Given the description of an element on the screen output the (x, y) to click on. 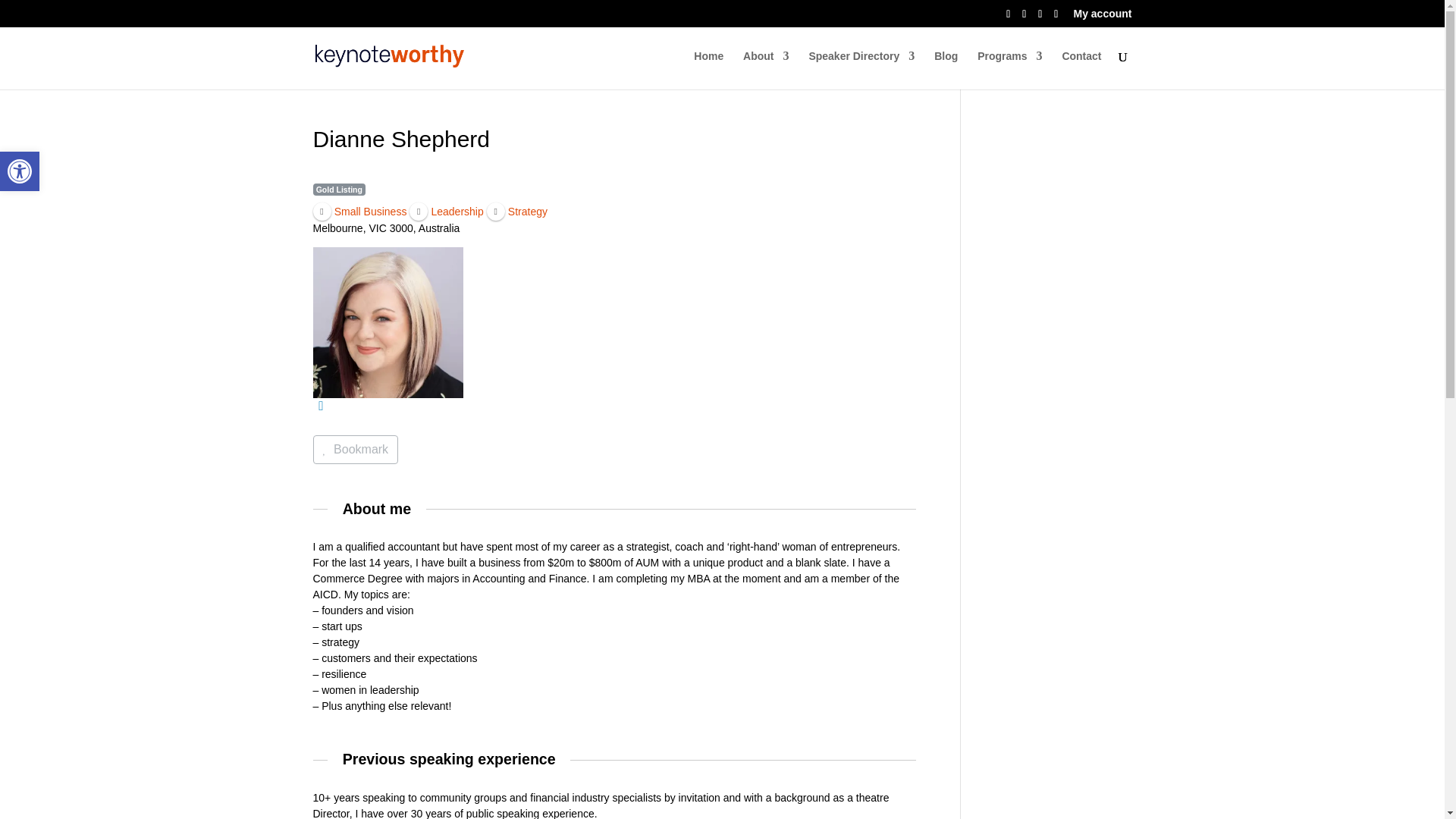
Small Business (359, 210)
My account (1102, 16)
About (765, 69)
Accessibility Tools (19, 170)
LinkedIn (321, 405)
Accessibility Tools (19, 170)
Contact (1080, 69)
Leadership (446, 210)
Strategy (516, 210)
Strategy (516, 210)
